Given the description of an element on the screen output the (x, y) to click on. 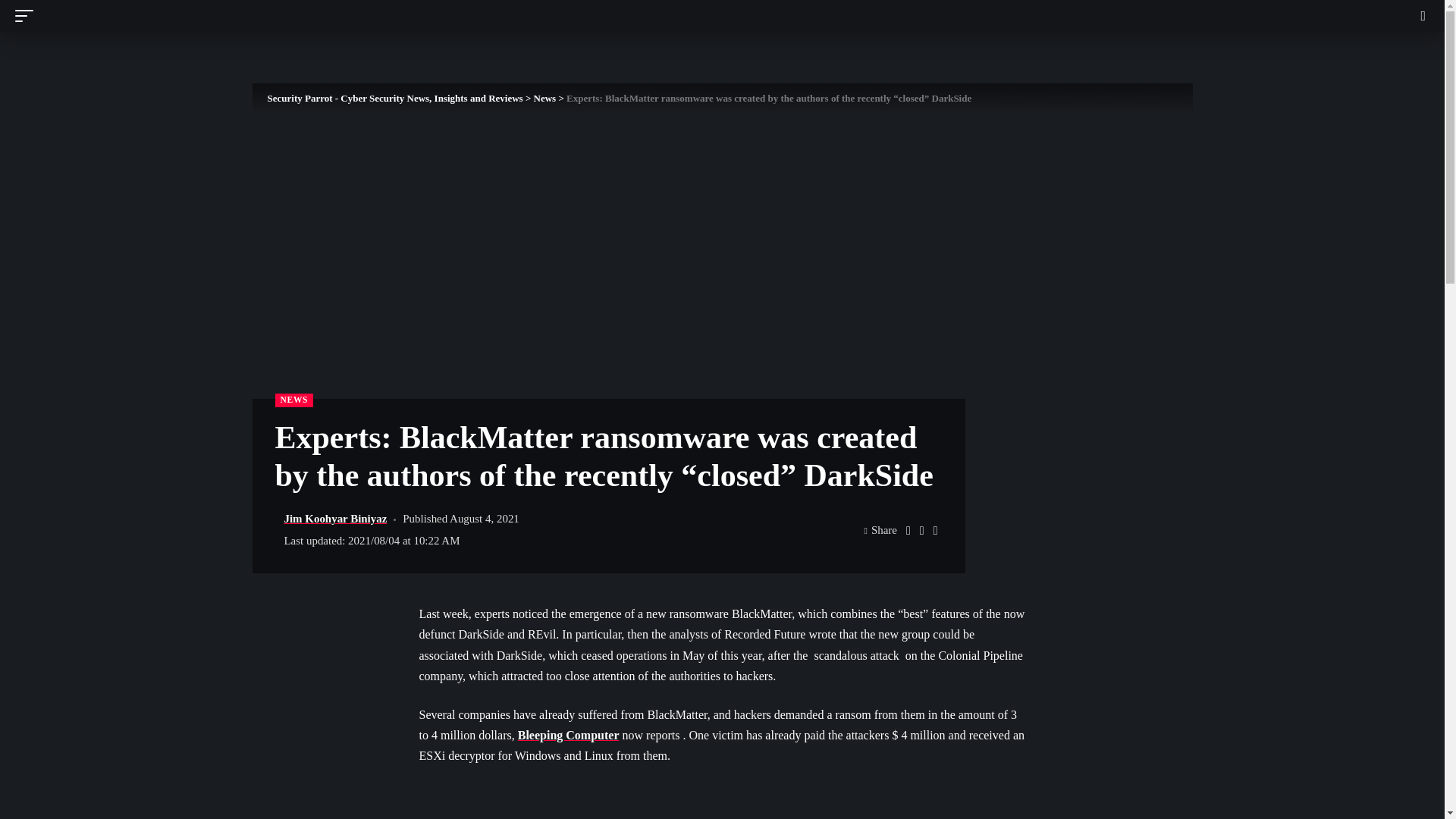
NEWS (294, 400)
Security Parrot - Cyber Security News, Insights and Reviews (287, 15)
Jim Koohyar Biniyaz (335, 518)
Bleeping Computer (569, 735)
News (545, 98)
Security Parrot - Cyber Security News, Insights and Reviews (394, 98)
Go to the News Category archives. (545, 98)
